Given the description of an element on the screen output the (x, y) to click on. 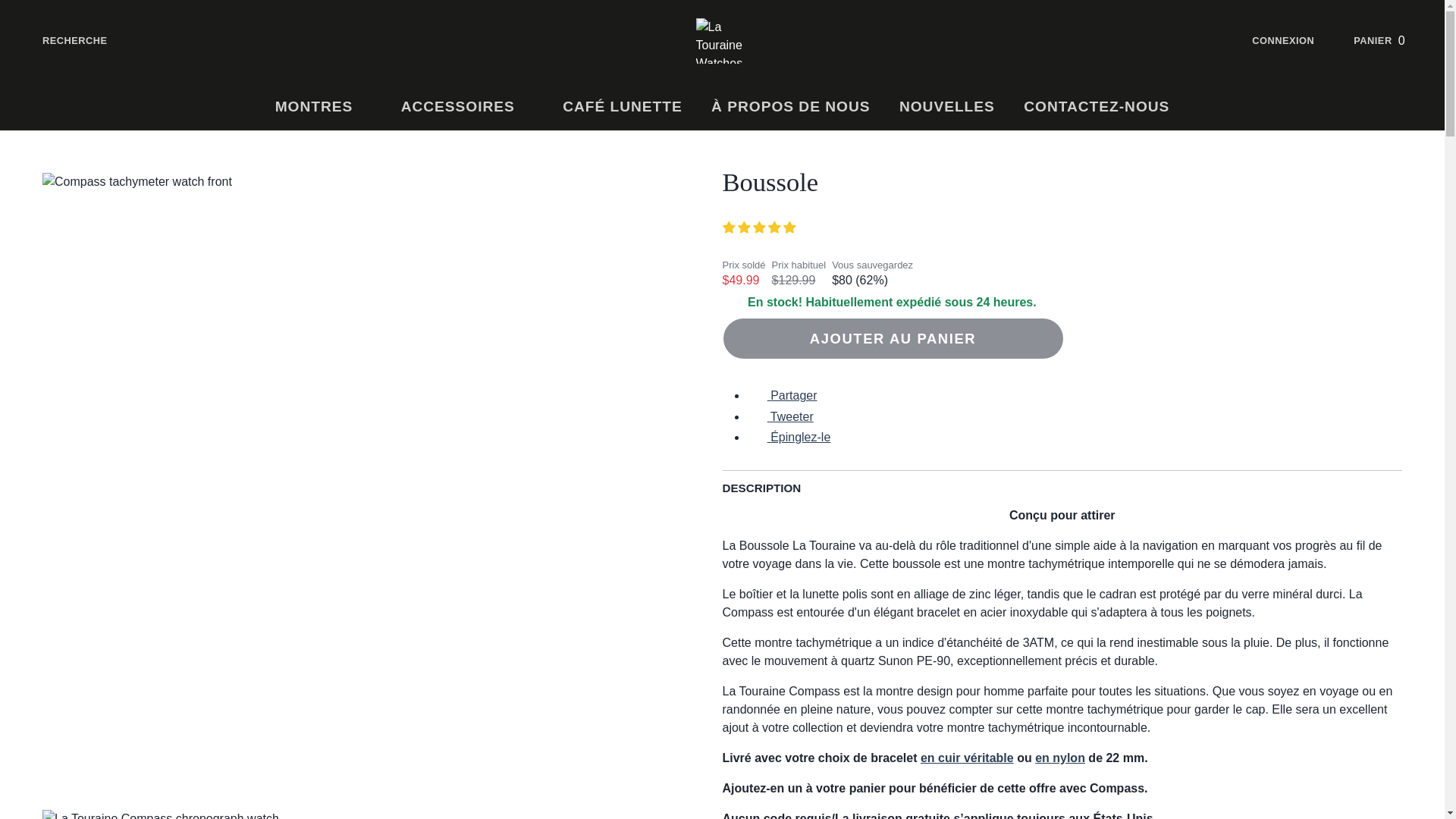
ACCESSOIRES (466, 107)
CONNEXION (1295, 40)
Bracelets de montre avec bracelet en cuir (966, 757)
AJOUTER AU PANIER (892, 338)
MONTRES (322, 107)
RECHERCHE (62, 40)
NOUVELLES (947, 107)
CONTACTEZ-NOUS (1097, 107)
en nylon (1059, 757)
